Given the description of an element on the screen output the (x, y) to click on. 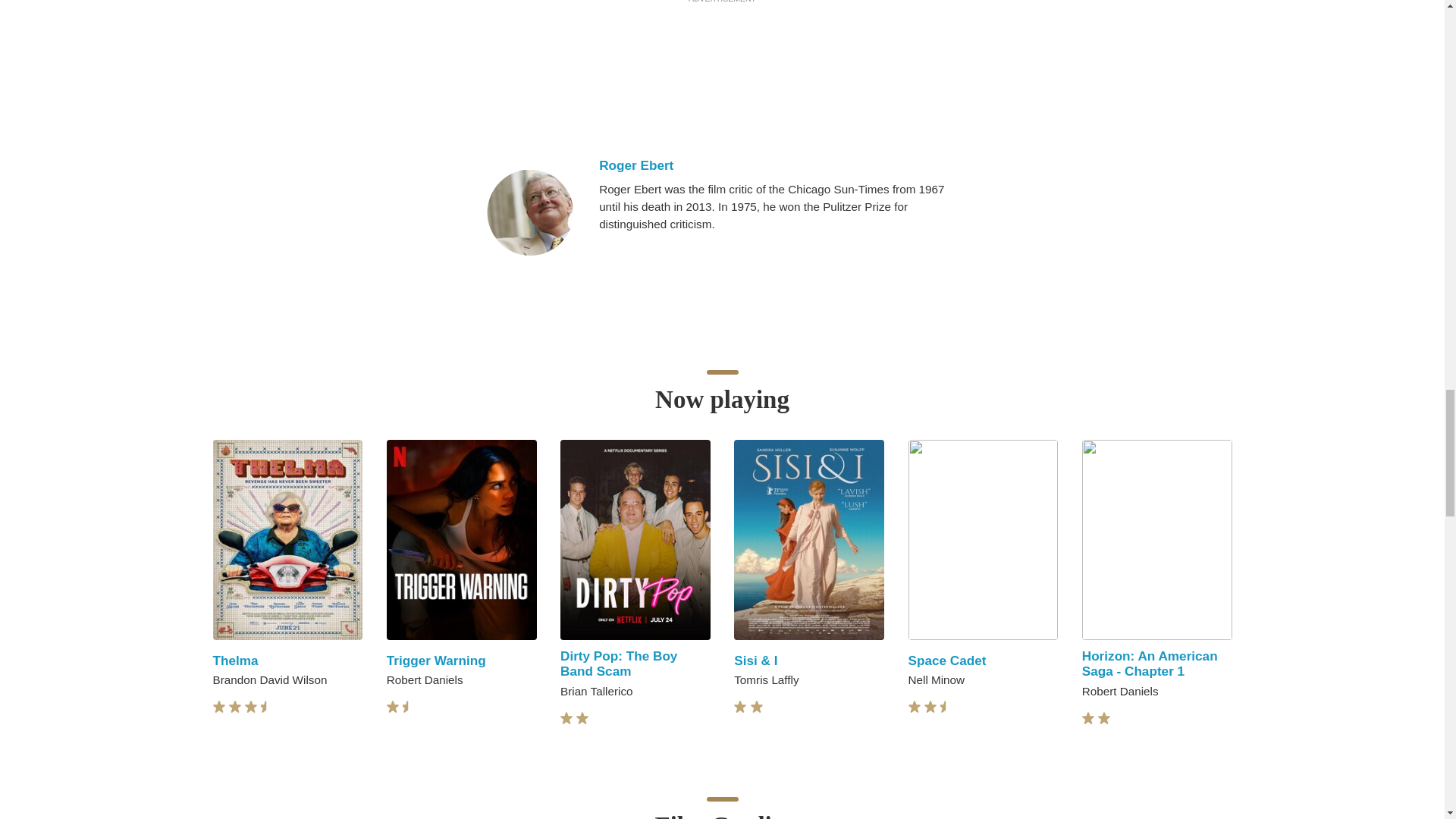
Humanist Vampire Seeking Consenting Suicidal Person (970, 671)
Roger Ebert (529, 212)
star-full (234, 707)
Widow Clicquot (782, 660)
Crossing (587, 660)
Fly Me to the Moon (1140, 660)
star-full (408, 707)
star-full (392, 707)
star-full (250, 707)
Roger Ebert (782, 165)
